Given the description of an element on the screen output the (x, y) to click on. 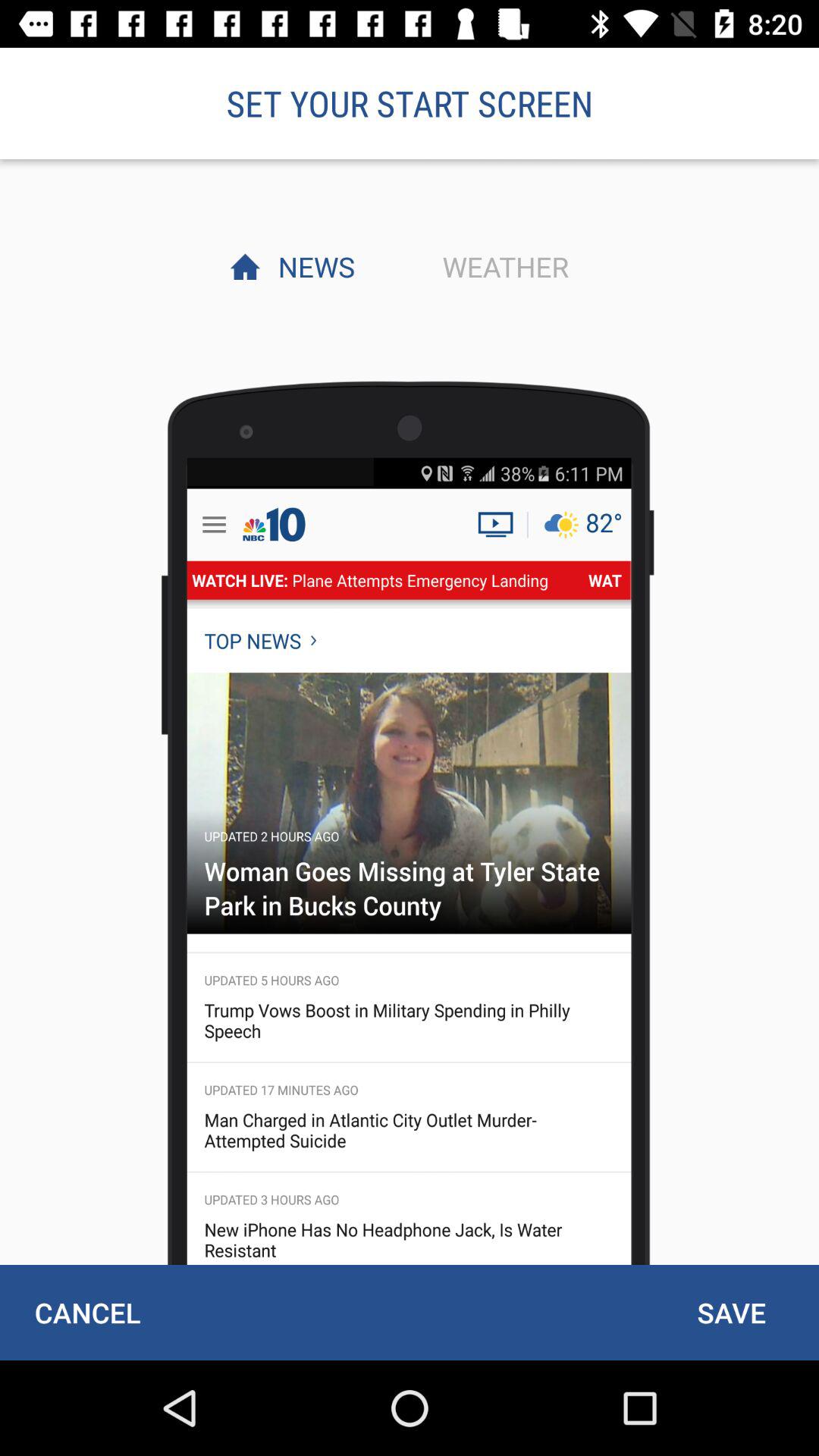
tap weather item (501, 266)
